Given the description of an element on the screen output the (x, y) to click on. 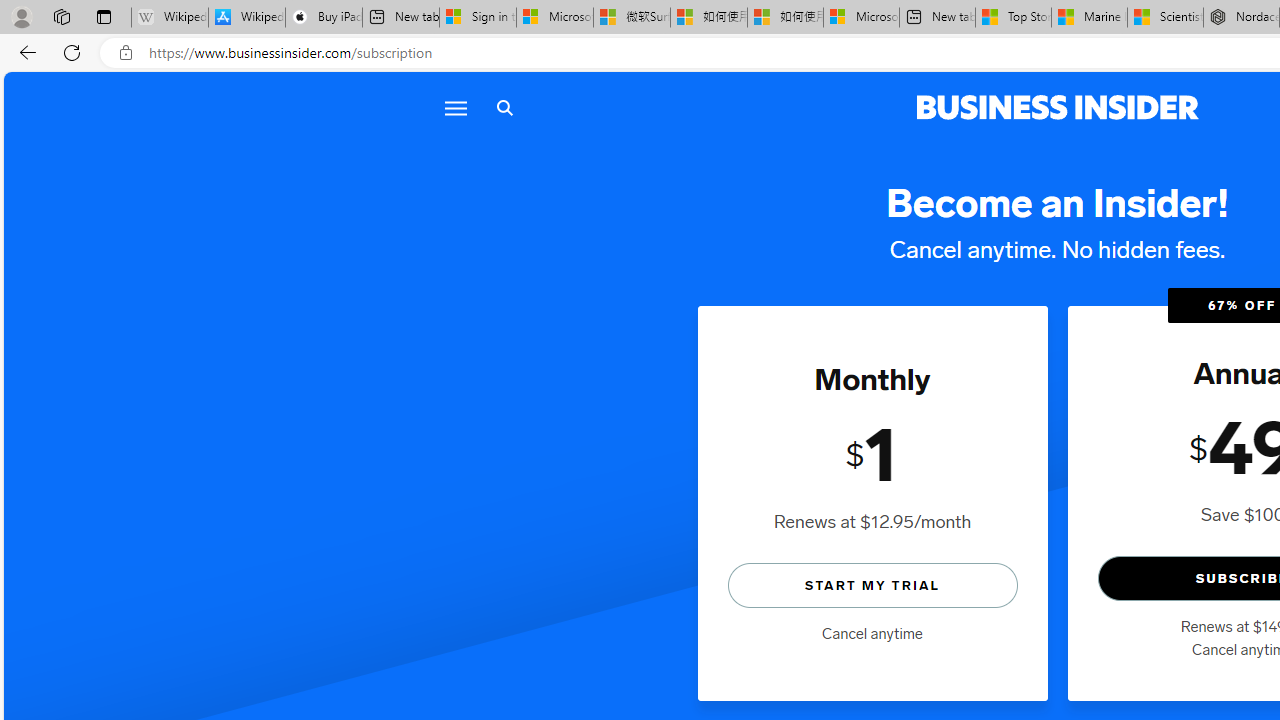
Business Insider logo (1057, 107)
START MY TRIAL (872, 584)
